Given the description of an element on the screen output the (x, y) to click on. 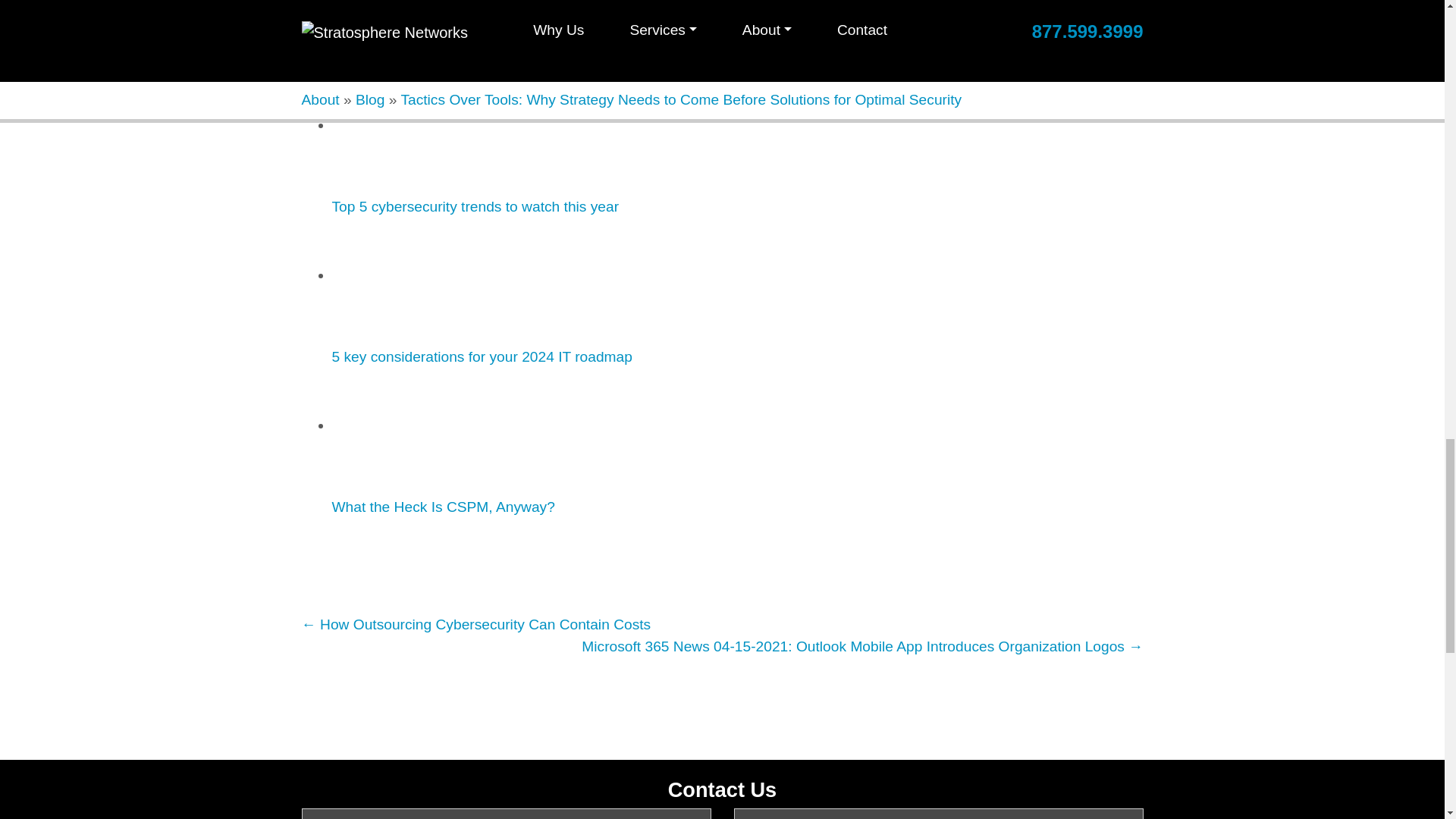
Last Name (937, 813)
Send to facebook (348, 564)
Send to linkedin (381, 564)
Top 5 cybersecurity trends to watch this year (388, 125)
View rss feed (447, 564)
5 key considerations for your 2024 IT roadmap (388, 275)
First Name (506, 813)
Tweet this (316, 564)
What the Heck Is CSPM, Anyway? (388, 426)
